Given the description of an element on the screen output the (x, y) to click on. 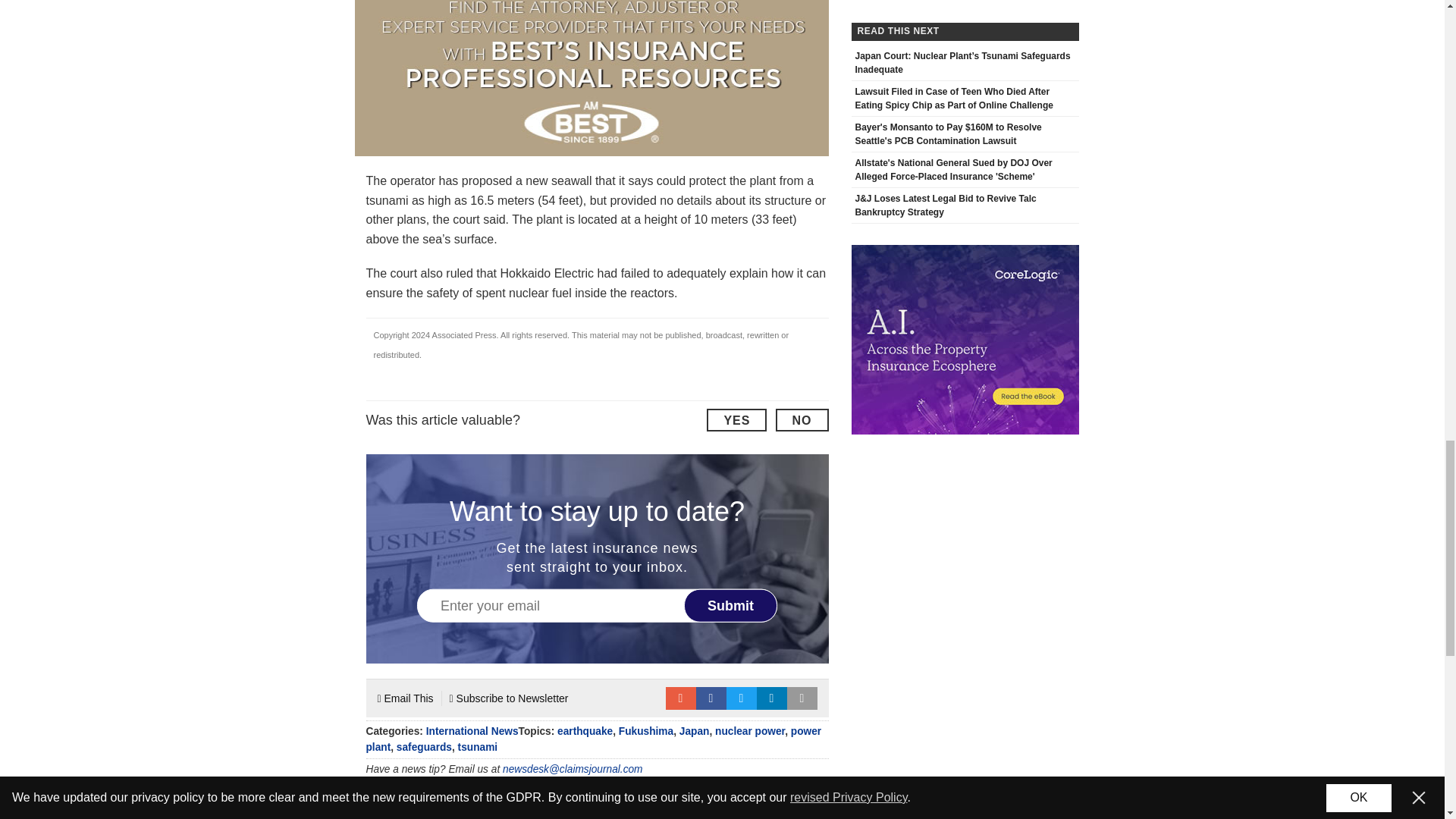
Print Article (801, 698)
NO (801, 419)
YES (736, 419)
Share on LinkedIn. (772, 698)
Email to a friend (680, 698)
Post to Facebook. (710, 698)
Share on Twitter. (741, 698)
Sponsored by A.M. Best Company (591, 78)
Submit (730, 604)
